Given the description of an element on the screen output the (x, y) to click on. 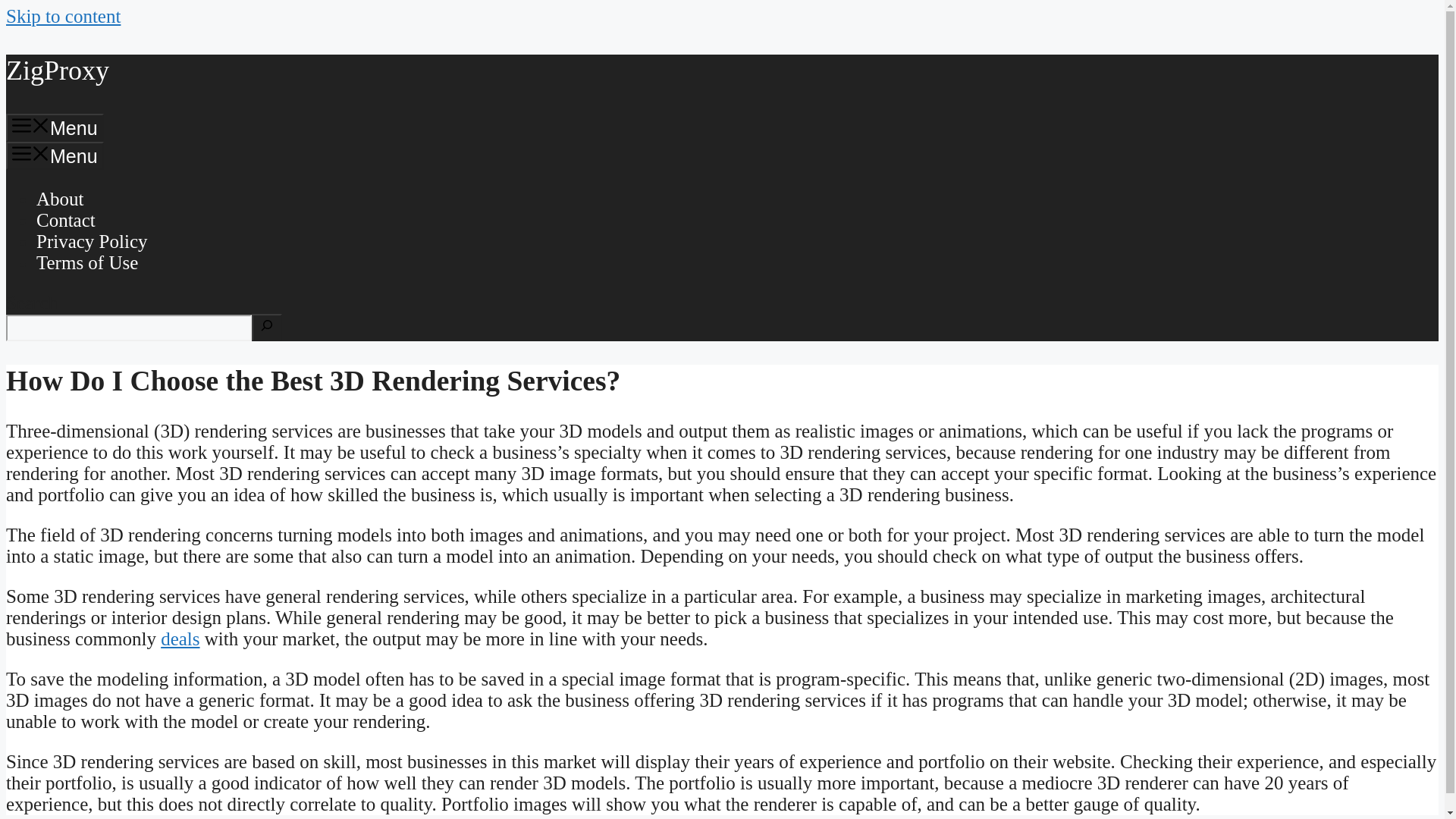
Terms of Use (87, 262)
Privacy Policy (92, 240)
Skip to content (62, 15)
Menu (54, 127)
Skip to content (62, 15)
Contact (66, 219)
ZigProxy (57, 70)
deals (179, 638)
deals (179, 638)
About (60, 199)
